Given the description of an element on the screen output the (x, y) to click on. 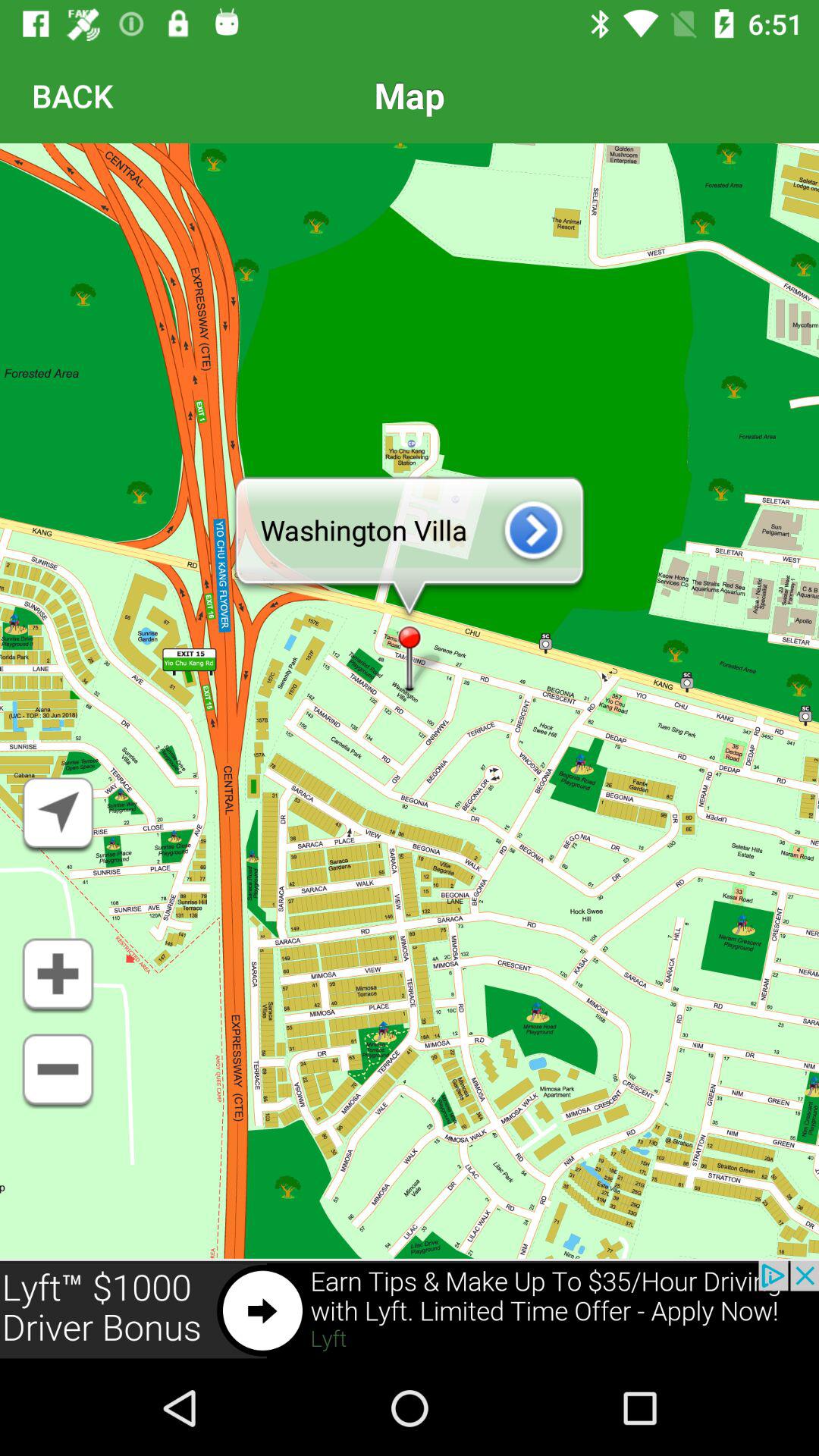
zoom in (57, 975)
